Given the description of an element on the screen output the (x, y) to click on. 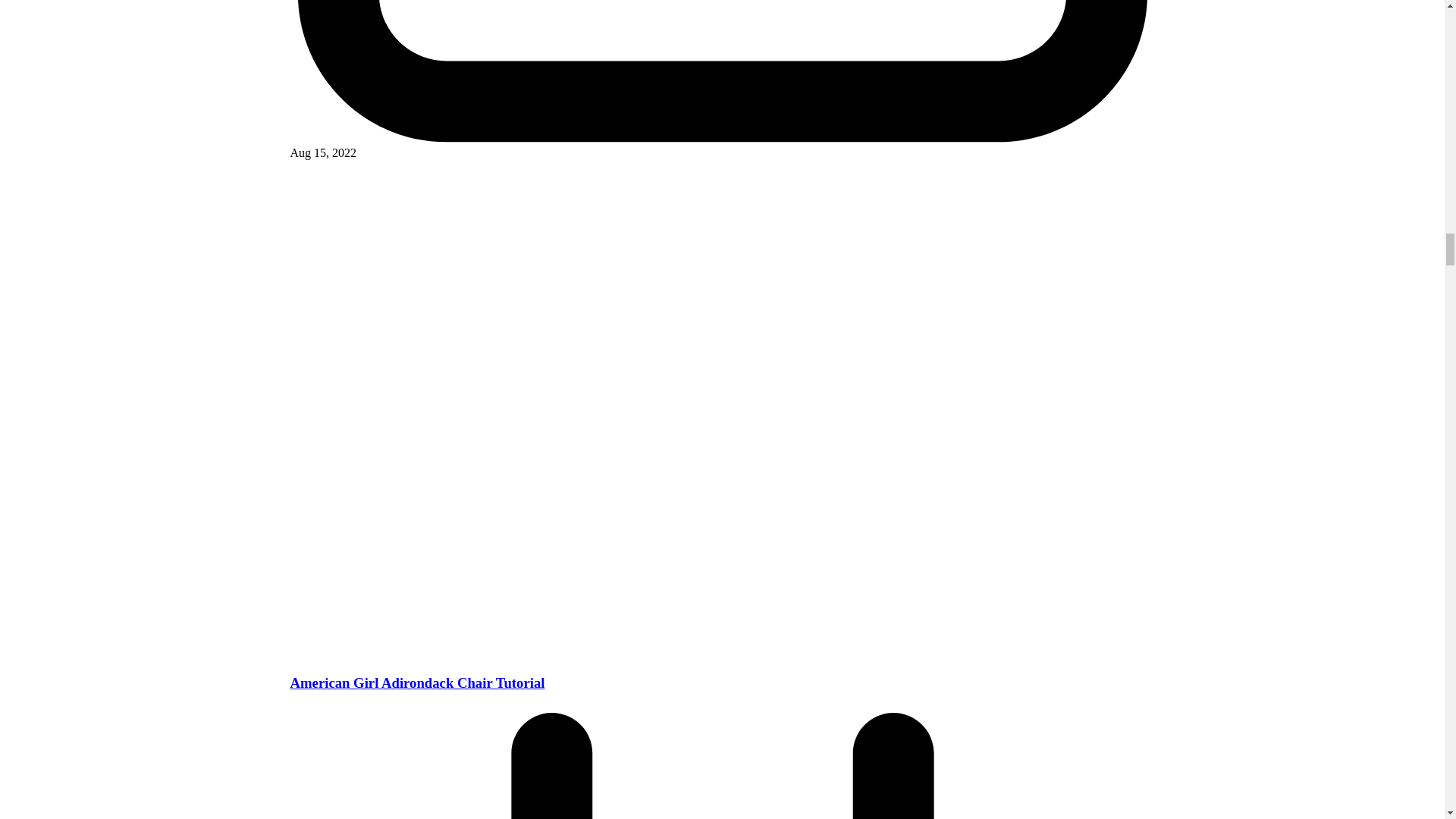
American Girl Adirondack Chair Tutorial (416, 682)
